Given the description of an element on the screen output the (x, y) to click on. 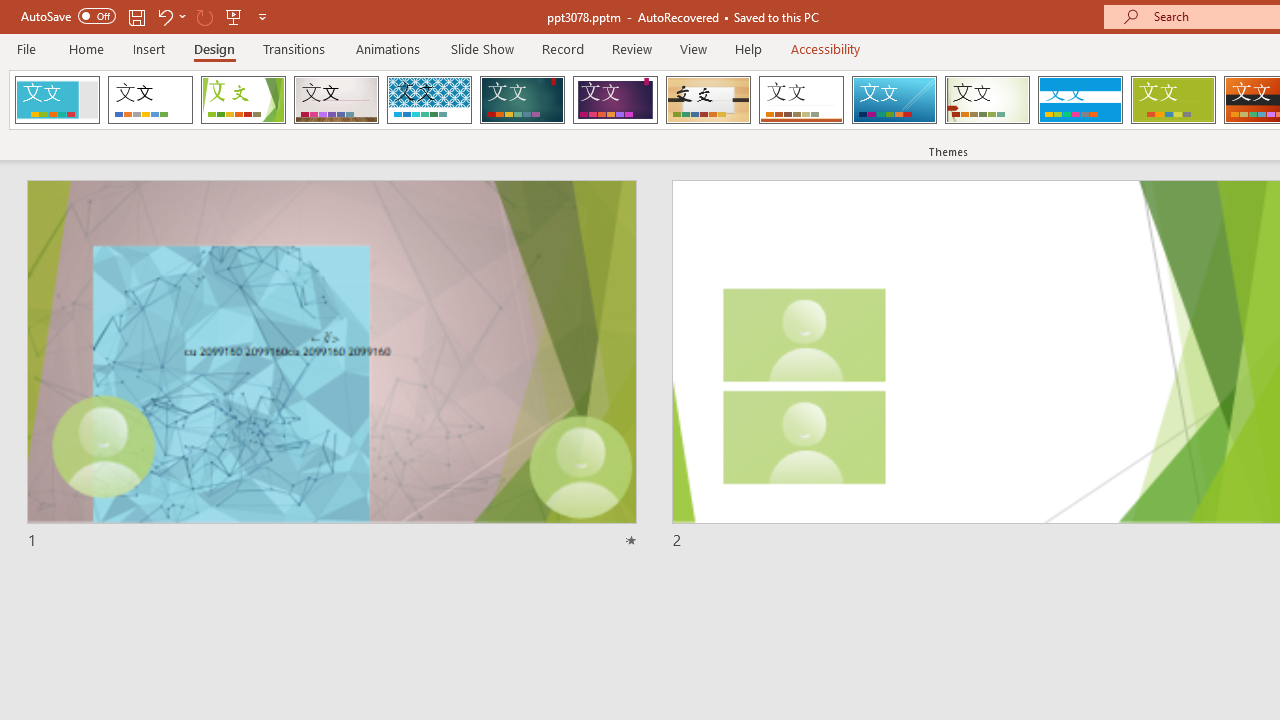
Ion Boardroom (615, 100)
Ion (522, 100)
Basis (1172, 100)
Organic (708, 100)
